Given the description of an element on the screen output the (x, y) to click on. 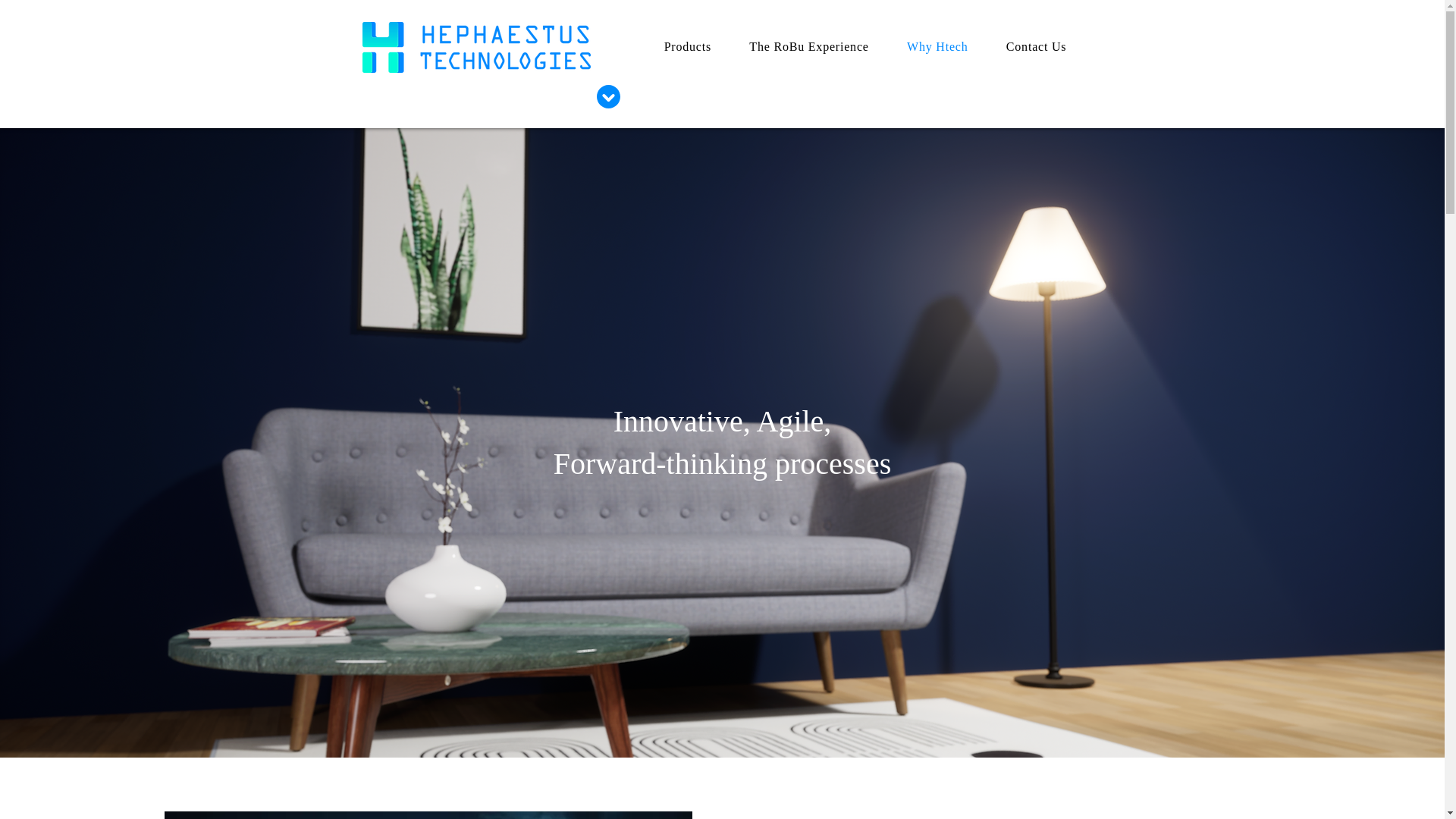
Products (686, 46)
Why Htech (937, 46)
The RoBu Experience (809, 46)
Contact Us (1036, 46)
